Given the description of an element on the screen output the (x, y) to click on. 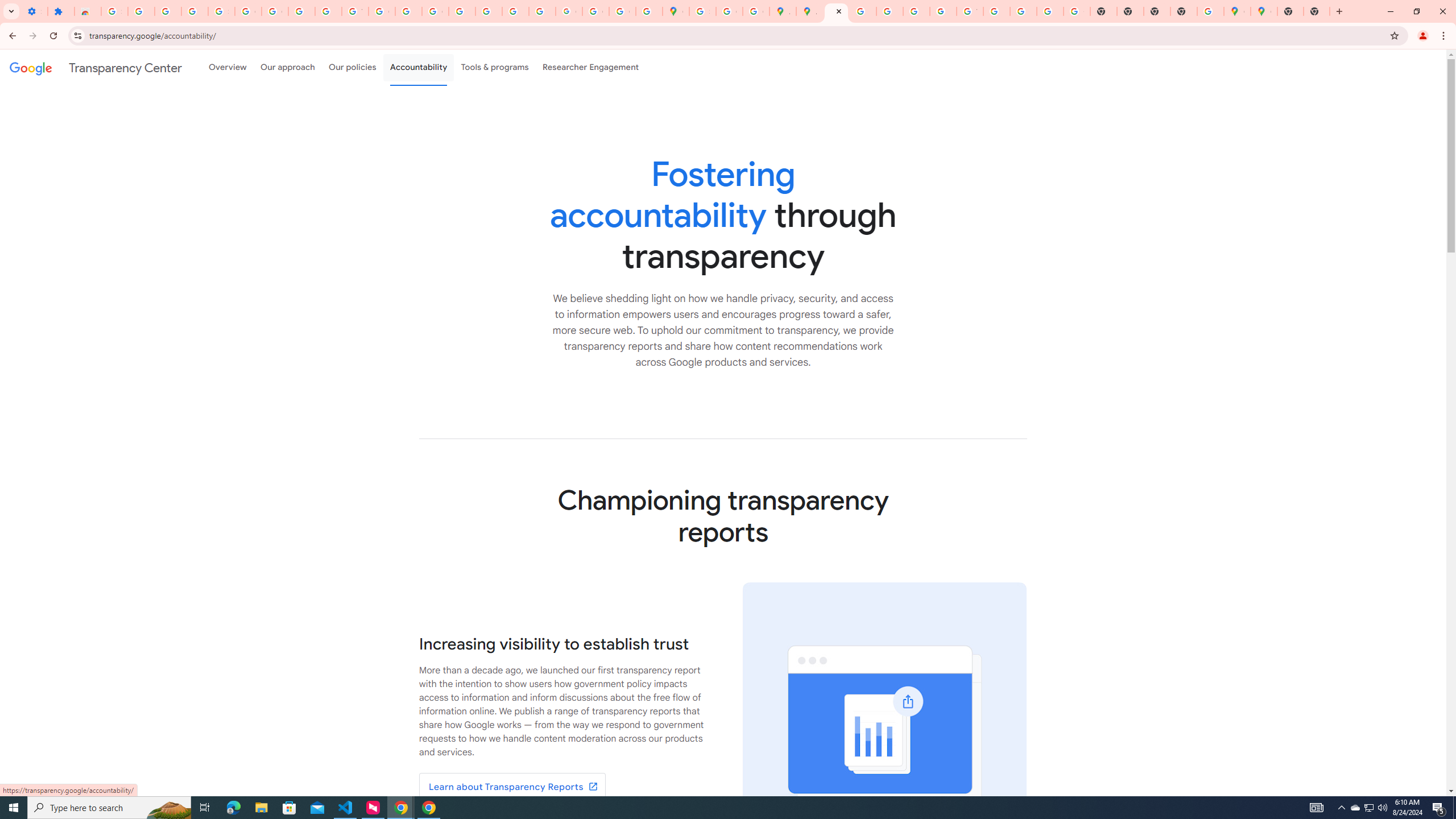
Delete photos & videos - Computer - Google Photos Help (141, 11)
Google Account Help (275, 11)
Tools & programs (494, 67)
Our policies (351, 67)
https://scholar.google.com/ (408, 11)
Use Google Maps in Space - Google Maps Help (1210, 11)
Privacy Help Center - Policies Help (862, 11)
